Given the description of an element on the screen output the (x, y) to click on. 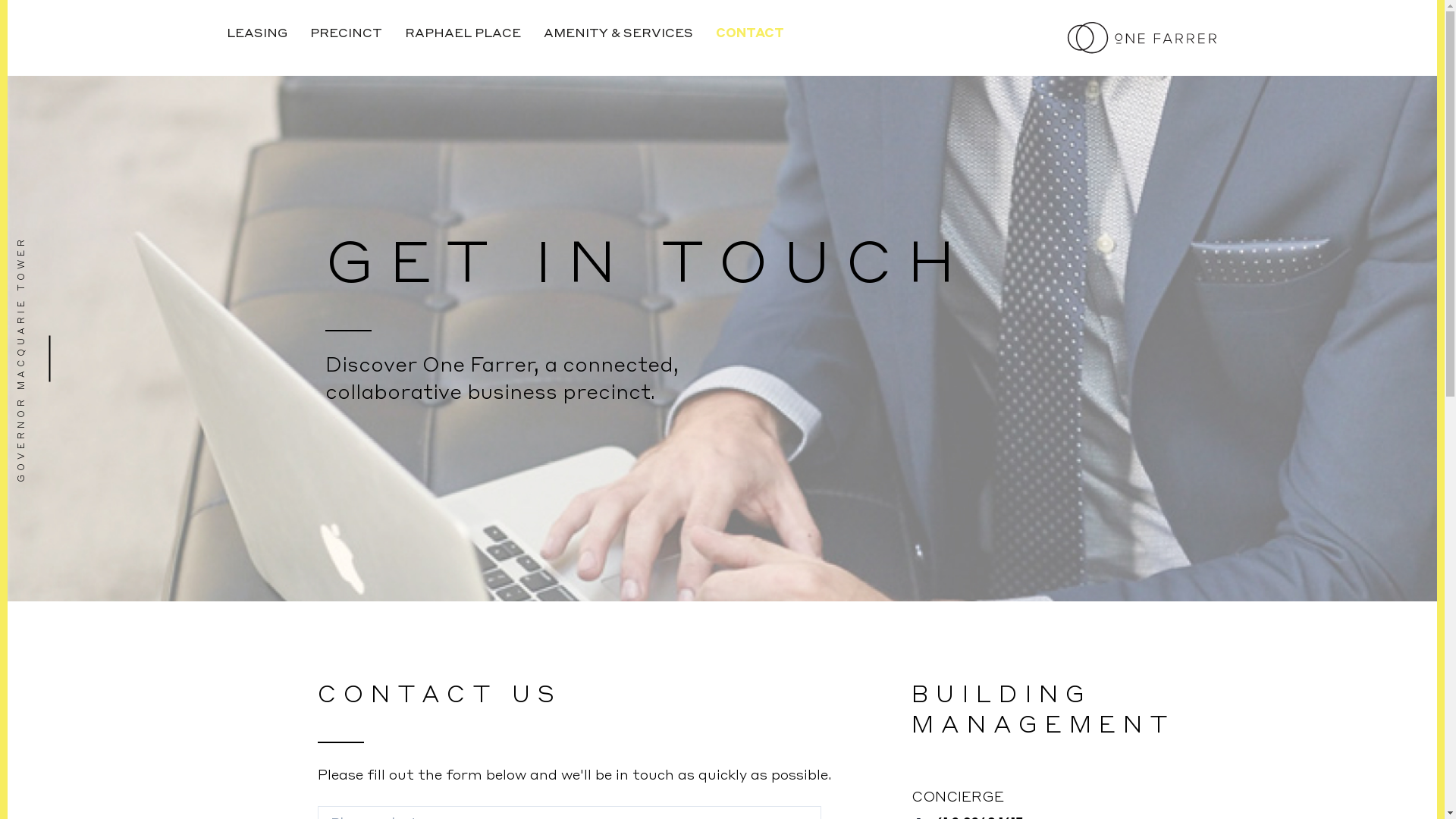
RAPHAEL PLACE Element type: text (461, 34)
AMENITY & SERVICES Element type: text (618, 34)
CONTACT Element type: text (748, 34)
LEASING Element type: text (261, 34)
PRECINCT Element type: text (345, 34)
